Given the description of an element on the screen output the (x, y) to click on. 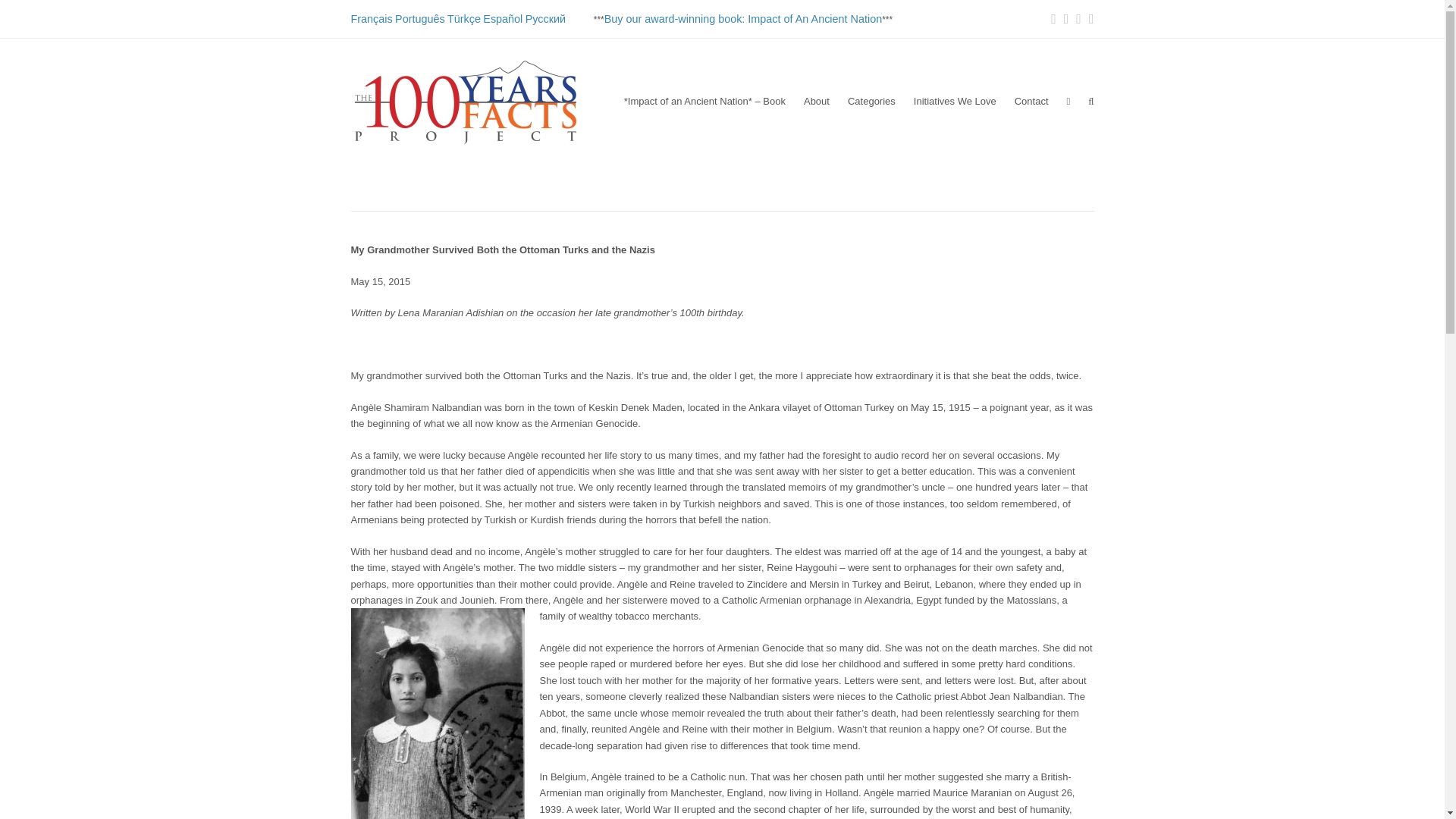
Buy our award-winning book: Impact of An Ancient Nation (743, 19)
BOOK (743, 19)
Initiatives We Love (955, 101)
Categories (871, 101)
About (816, 101)
How it Works (816, 101)
